Given the description of an element on the screen output the (x, y) to click on. 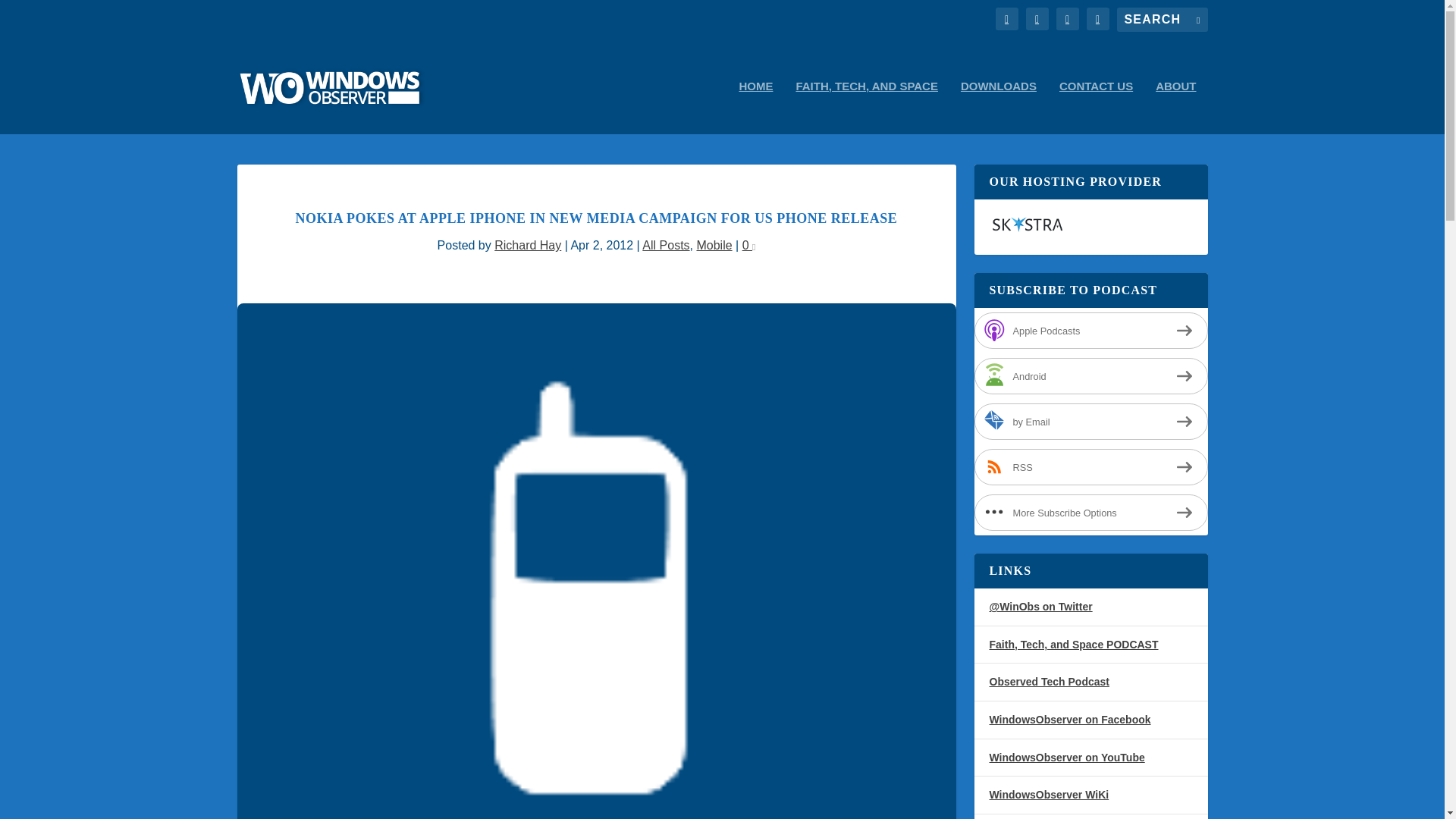
ABOUT (1175, 107)
All Posts (665, 245)
CONTACT US (1095, 107)
Mobile (713, 245)
Richard Hay (527, 245)
comment count (753, 246)
0 (748, 245)
DOWNLOADS (998, 107)
Subscribe on Apple Podcasts (1090, 330)
Subscribe on Android (1090, 375)
HOME (755, 107)
FAITH, TECH, AND SPACE (865, 107)
Posts by Richard Hay (527, 245)
Search for: (1161, 19)
